Given the description of an element on the screen output the (x, y) to click on. 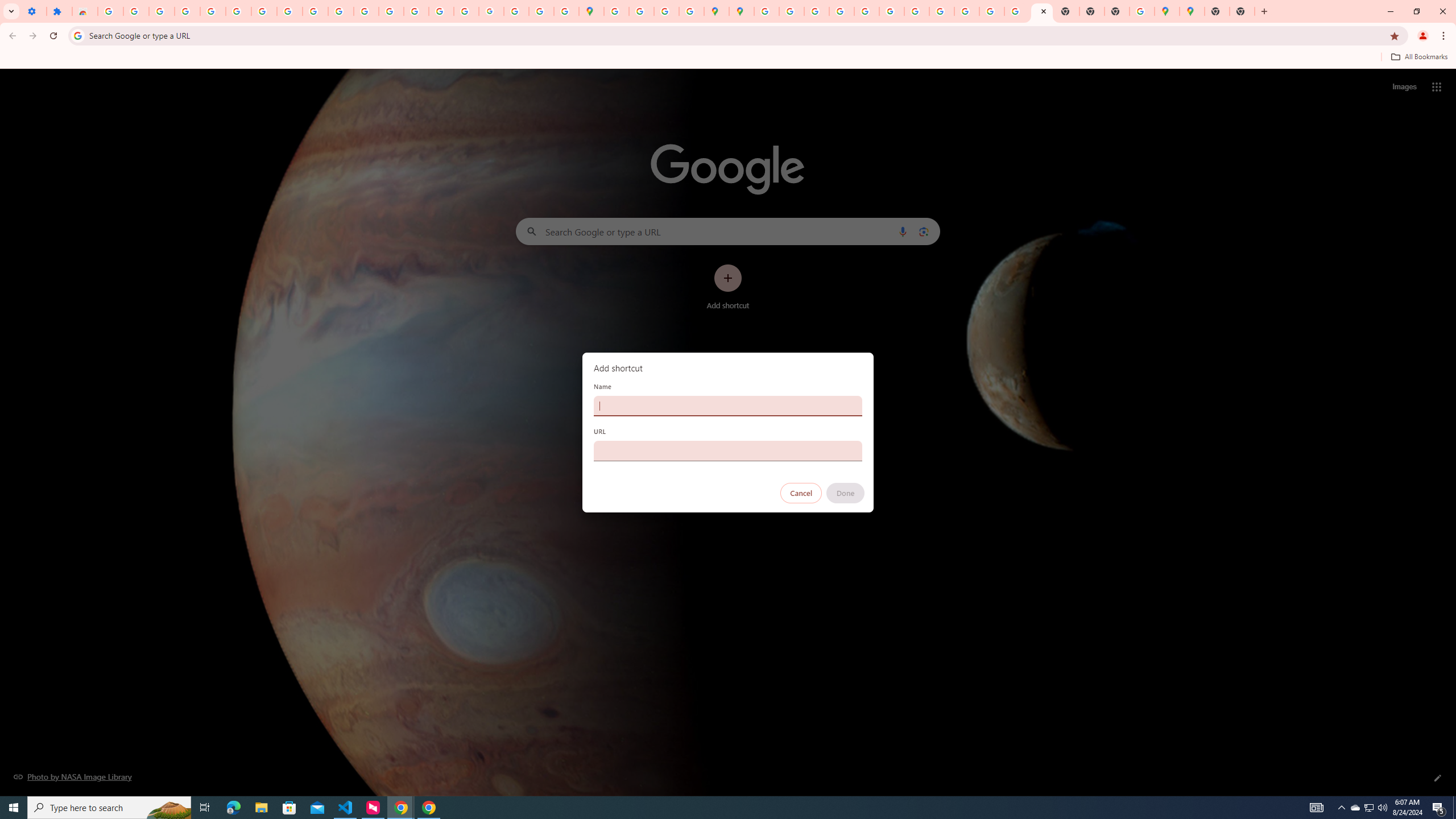
https://scholar.google.com/ (340, 11)
Bookmarks (728, 58)
